Given the description of an element on the screen output the (x, y) to click on. 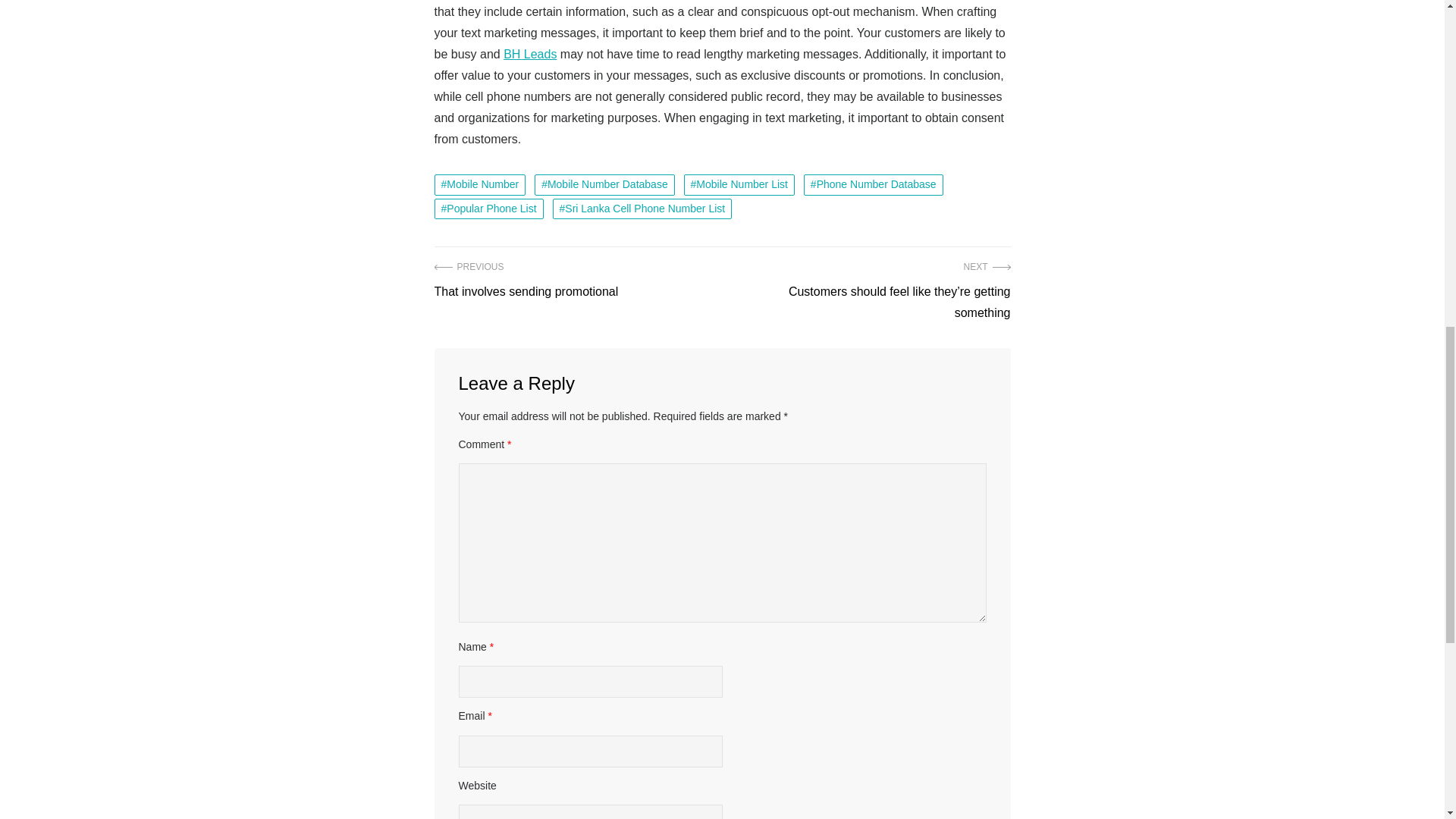
Mobile Number Database (604, 184)
Mobile Number List (739, 184)
Phone Number Database (873, 184)
Popular Phone List (525, 280)
Sri Lanka Cell Phone Number List (488, 209)
Mobile Number (641, 209)
BH Leads (479, 184)
